Given the description of an element on the screen output the (x, y) to click on. 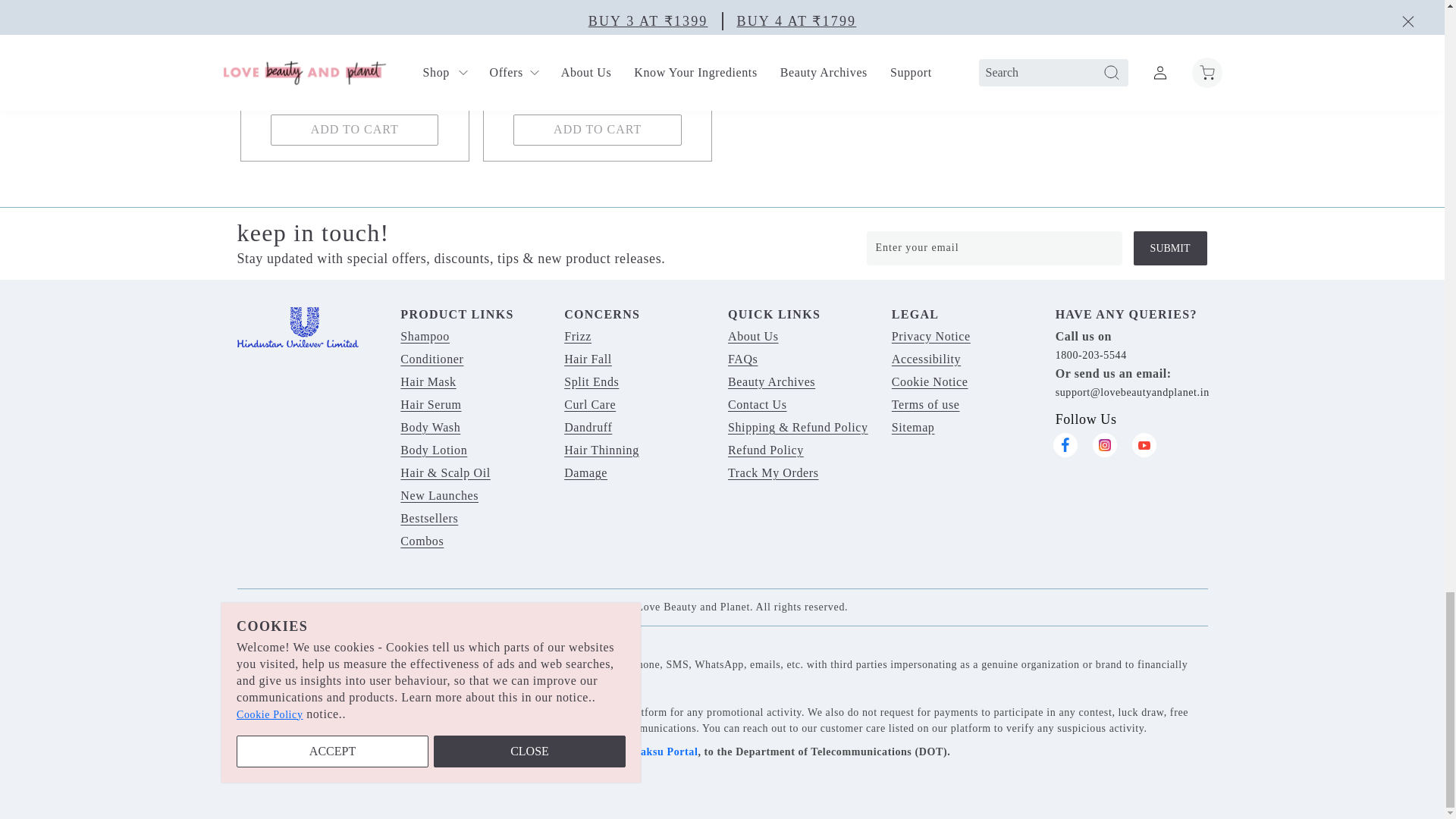
tel:1800-203-5544 (1090, 355)
